Given the description of an element on the screen output the (x, y) to click on. 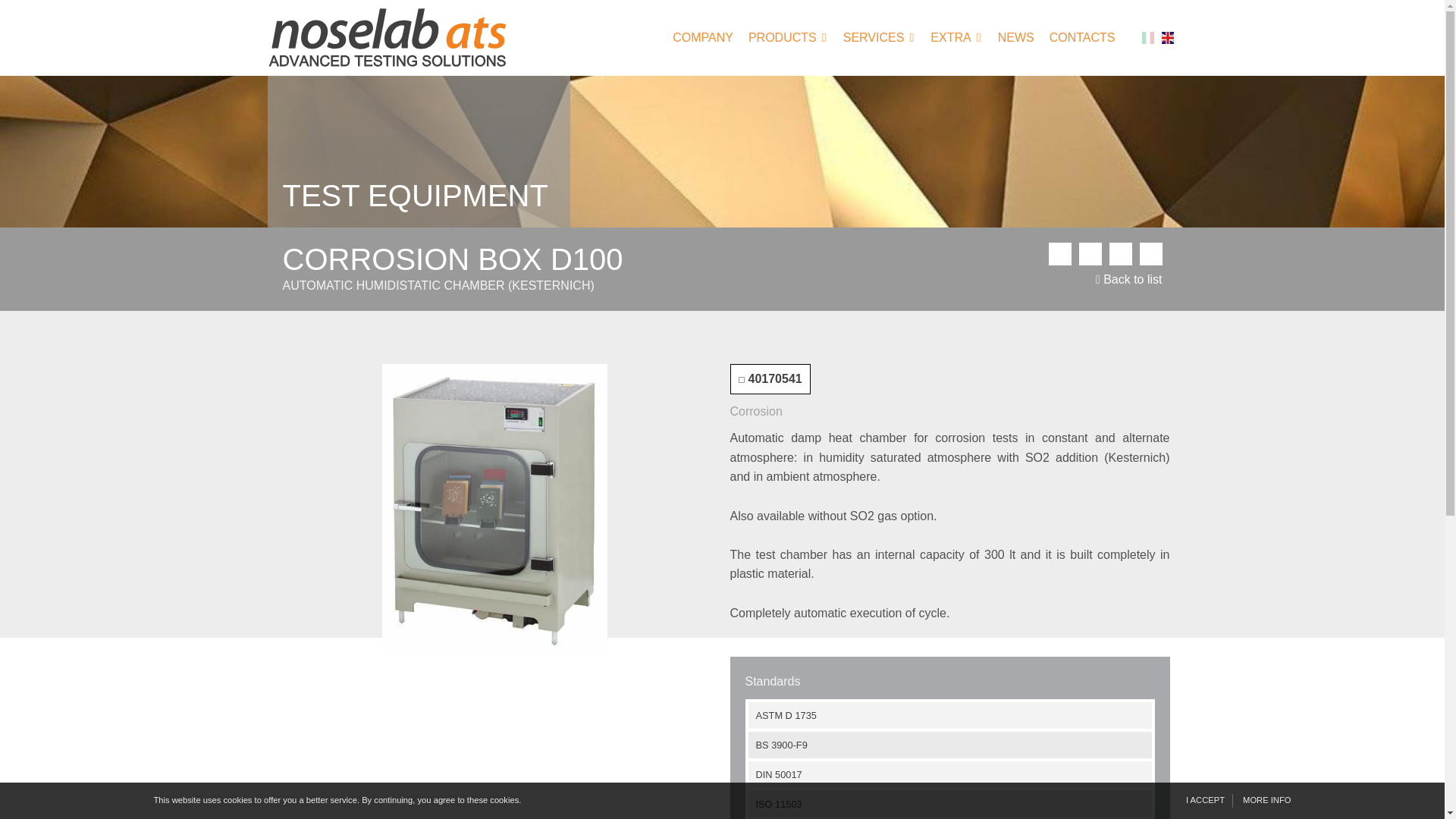
PRODUCTS (782, 37)
COMPANY (703, 37)
SERVICES (873, 37)
CONTACTS (1082, 37)
EXTRA (950, 37)
MORE INFO (1262, 800)
I ACCEPT (1205, 800)
CORROSION BOX D100 (494, 510)
Back to list (1128, 278)
